Given the description of an element on the screen output the (x, y) to click on. 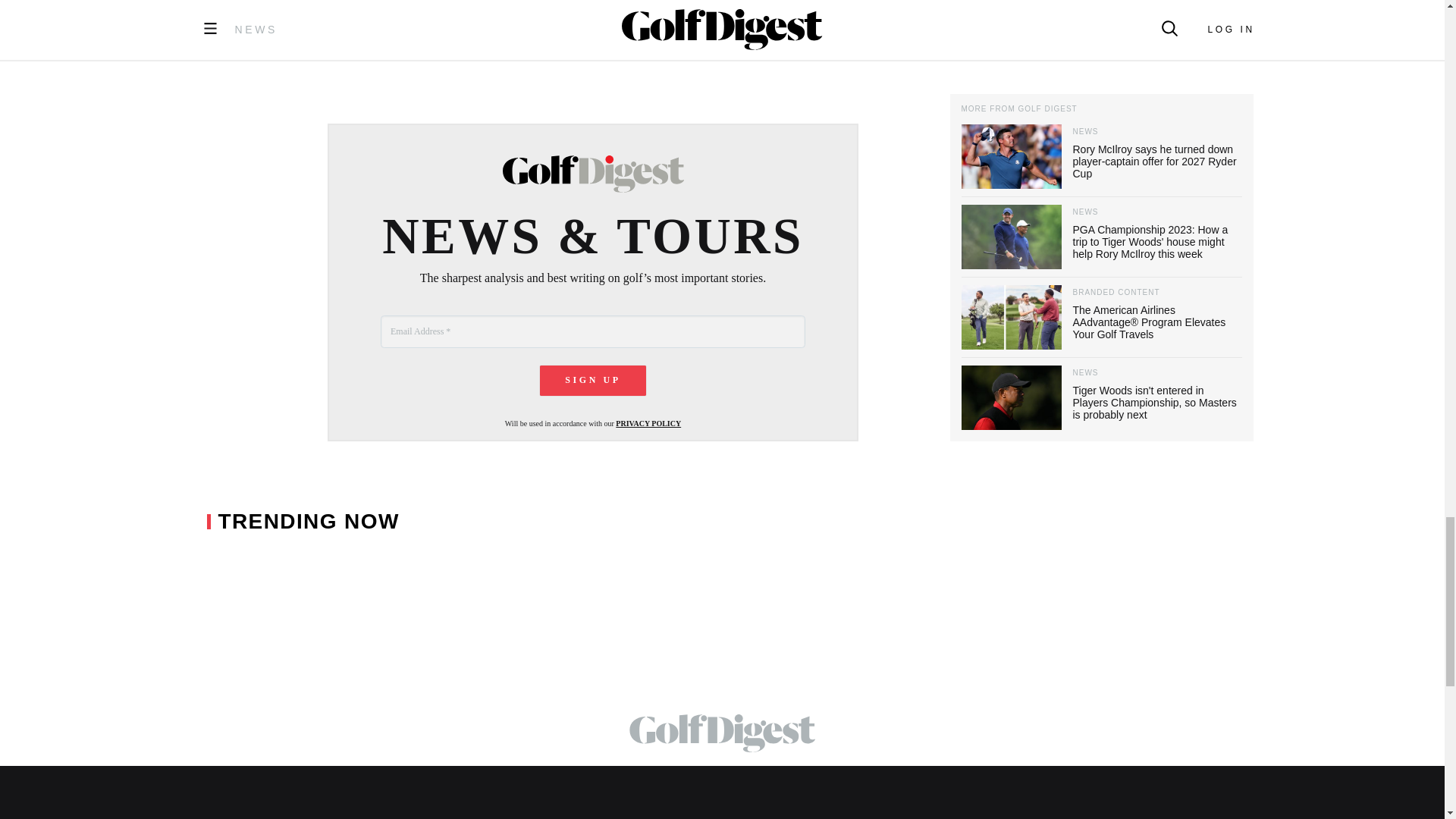
Sign up (593, 380)
